Given the description of an element on the screen output the (x, y) to click on. 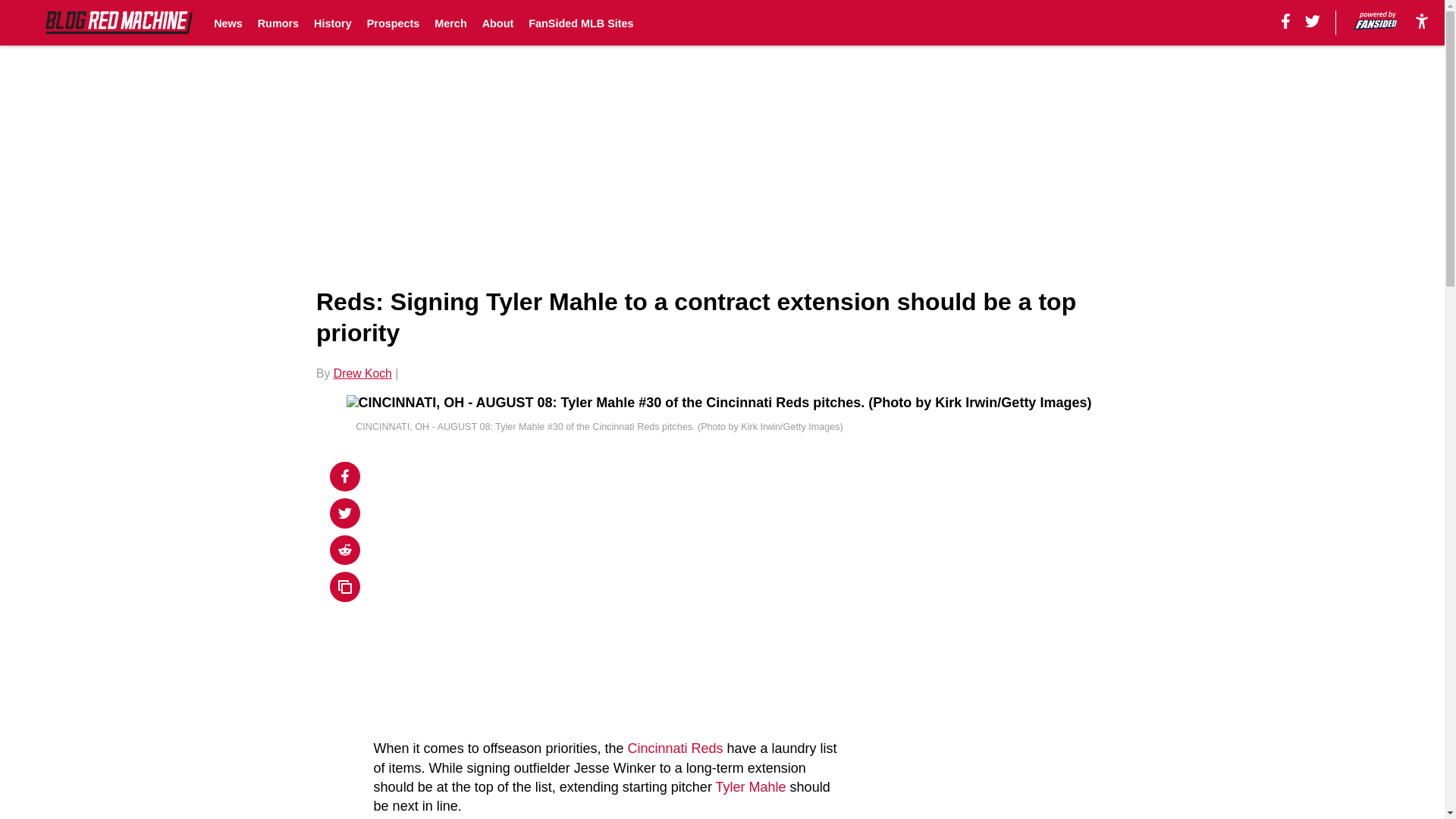
Drew Koch (362, 373)
History (333, 23)
Merch (449, 23)
Rumors (277, 23)
Prospects (393, 23)
Tyler Mahle (751, 786)
News (228, 23)
FanSided MLB Sites (580, 23)
About (497, 23)
Cincinnati Reds (674, 748)
